Given the description of an element on the screen output the (x, y) to click on. 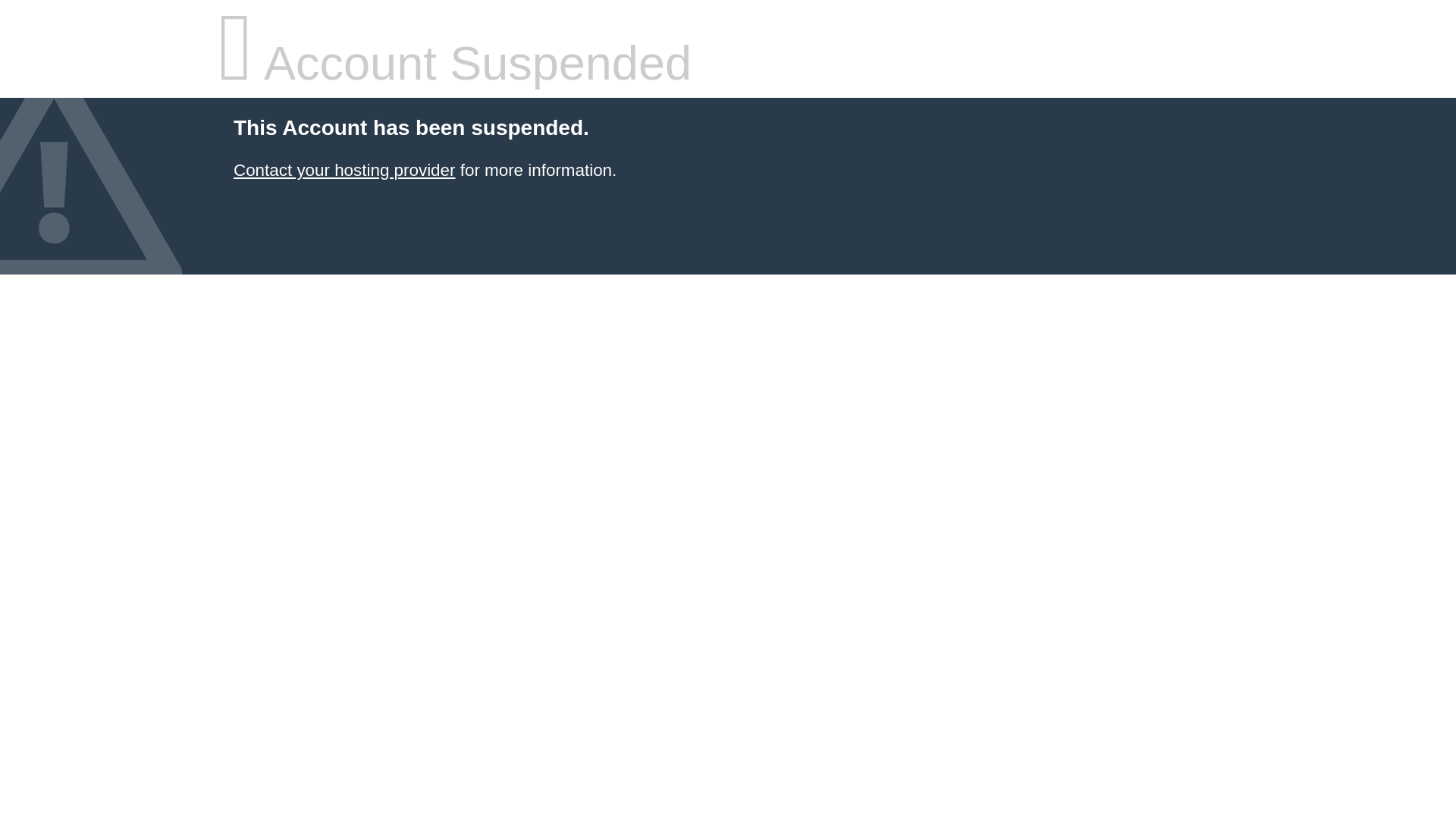
Contact your hosting provider (343, 169)
